Given the description of an element on the screen output the (x, y) to click on. 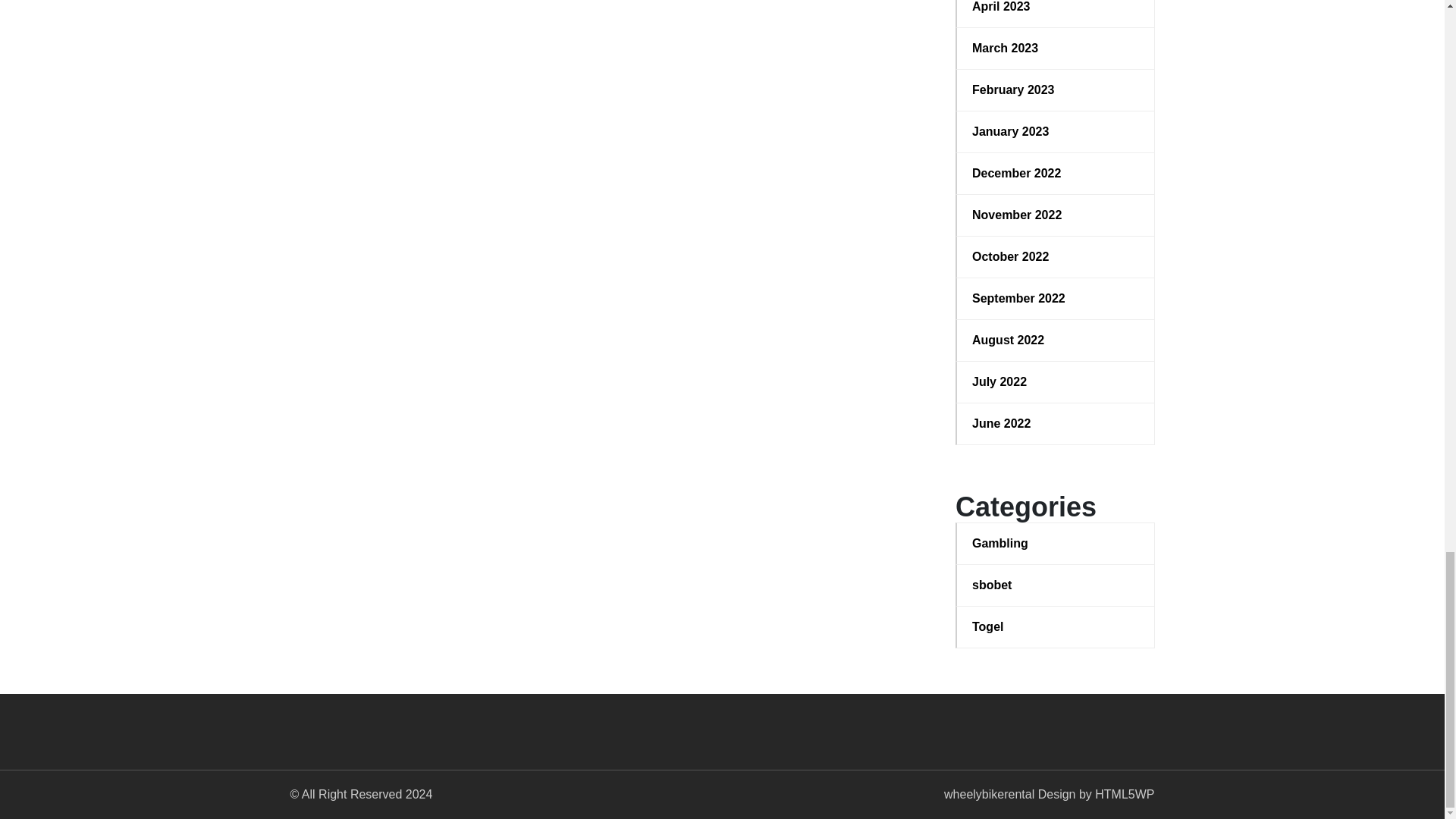
November 2022 (1055, 215)
January 2023 (1055, 131)
March 2023 (1055, 48)
December 2022 (1055, 173)
February 2023 (1055, 90)
April 2023 (1055, 7)
October 2022 (1055, 257)
